Given the description of an element on the screen output the (x, y) to click on. 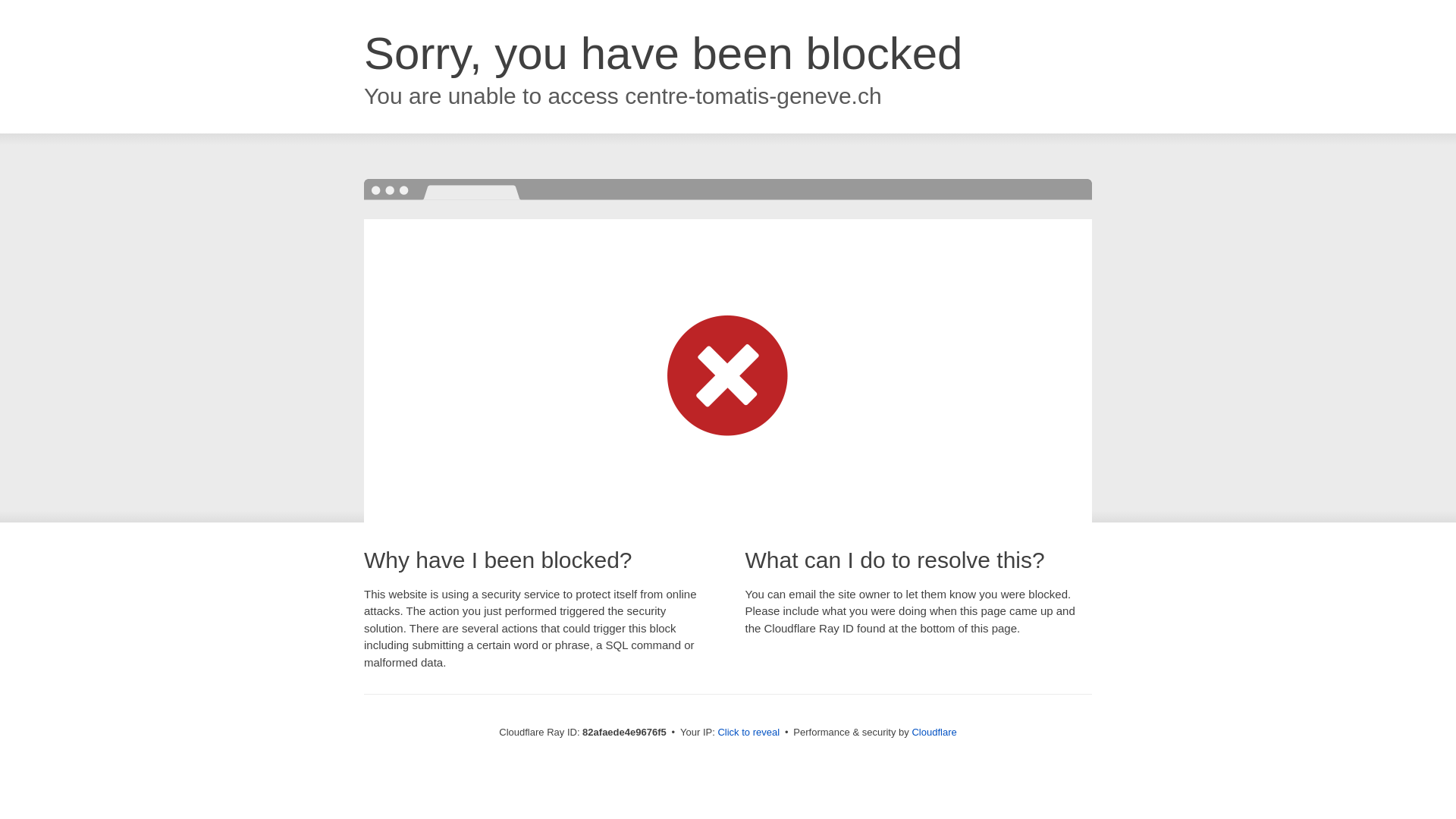
Click to reveal Element type: text (748, 732)
Cloudflare Element type: text (933, 731)
